Given the description of an element on the screen output the (x, y) to click on. 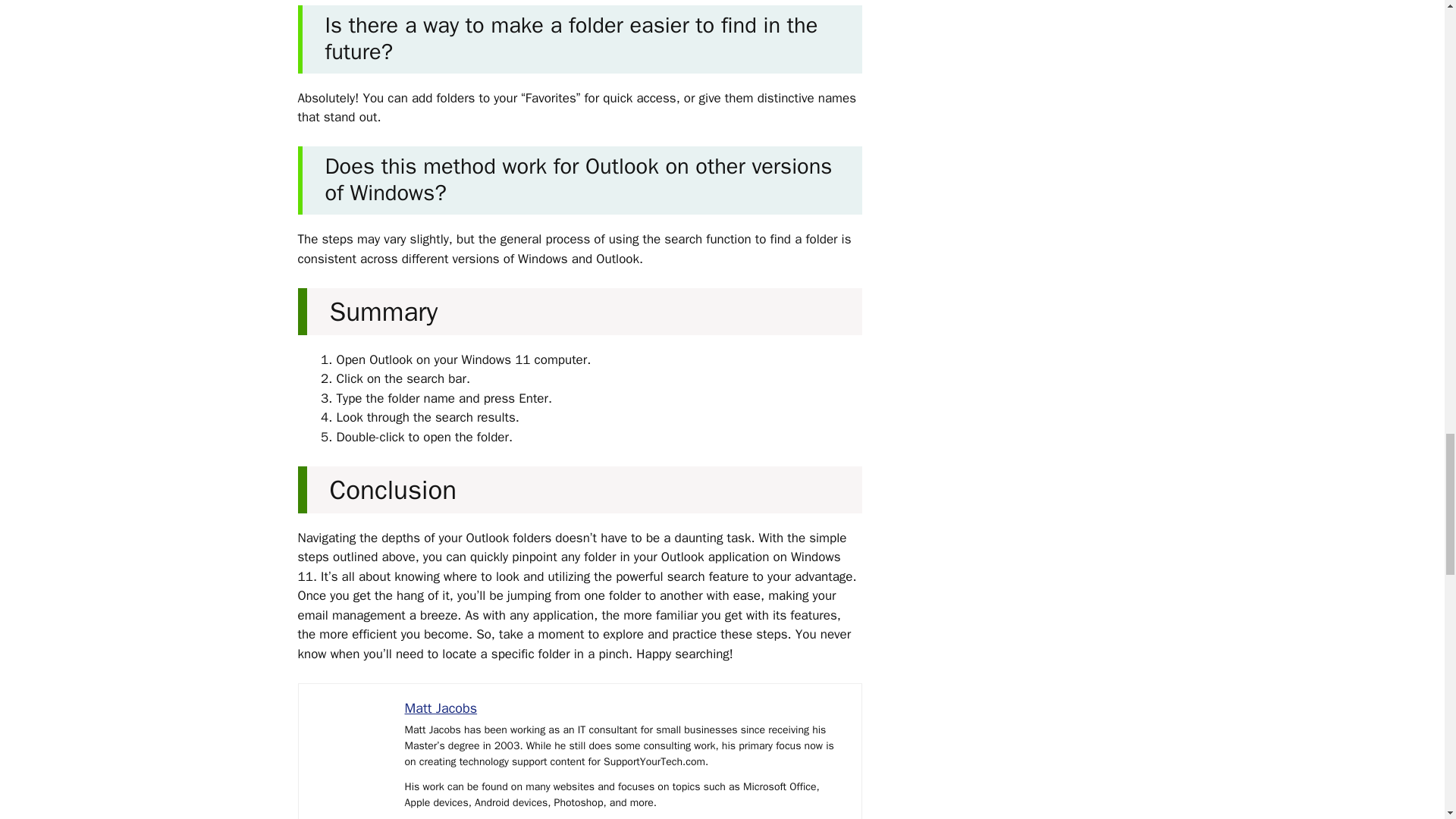
Matt Jacobs (440, 708)
